Given the description of an element on the screen output the (x, y) to click on. 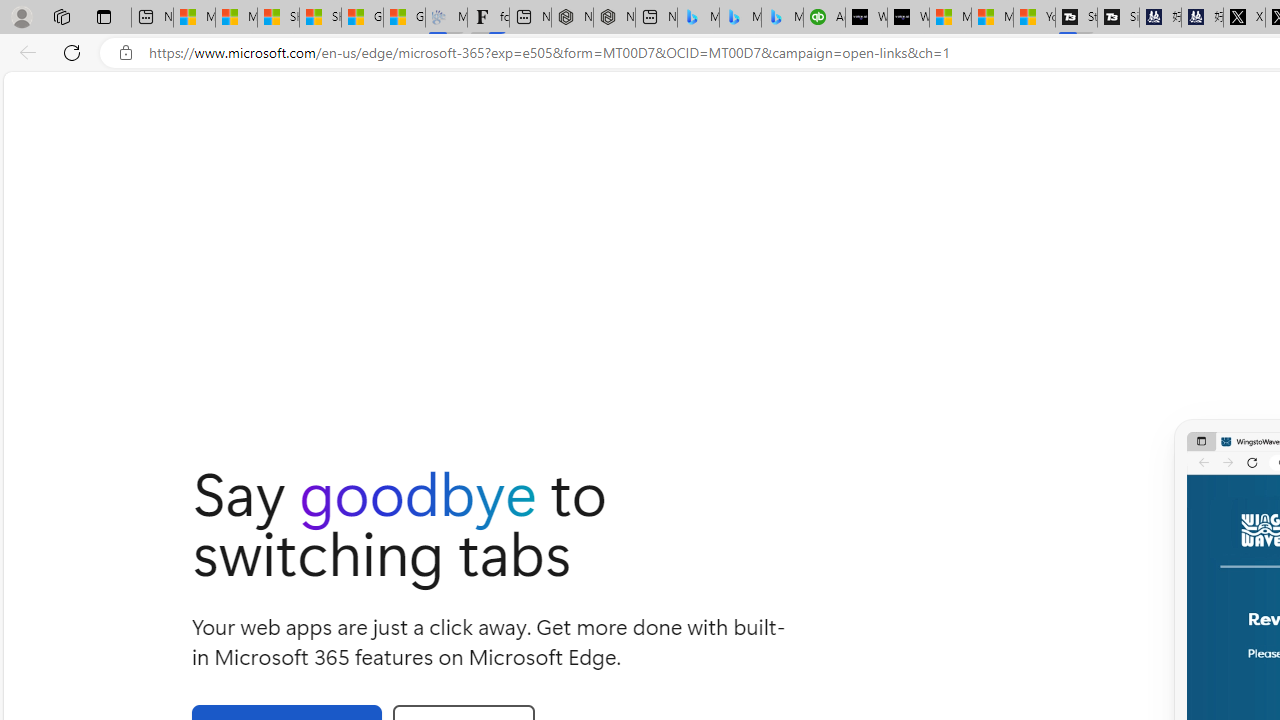
Microsoft Bing Travel - Stays in Bangkok, Bangkok, Thailand (740, 17)
